Given the description of an element on the screen output the (x, y) to click on. 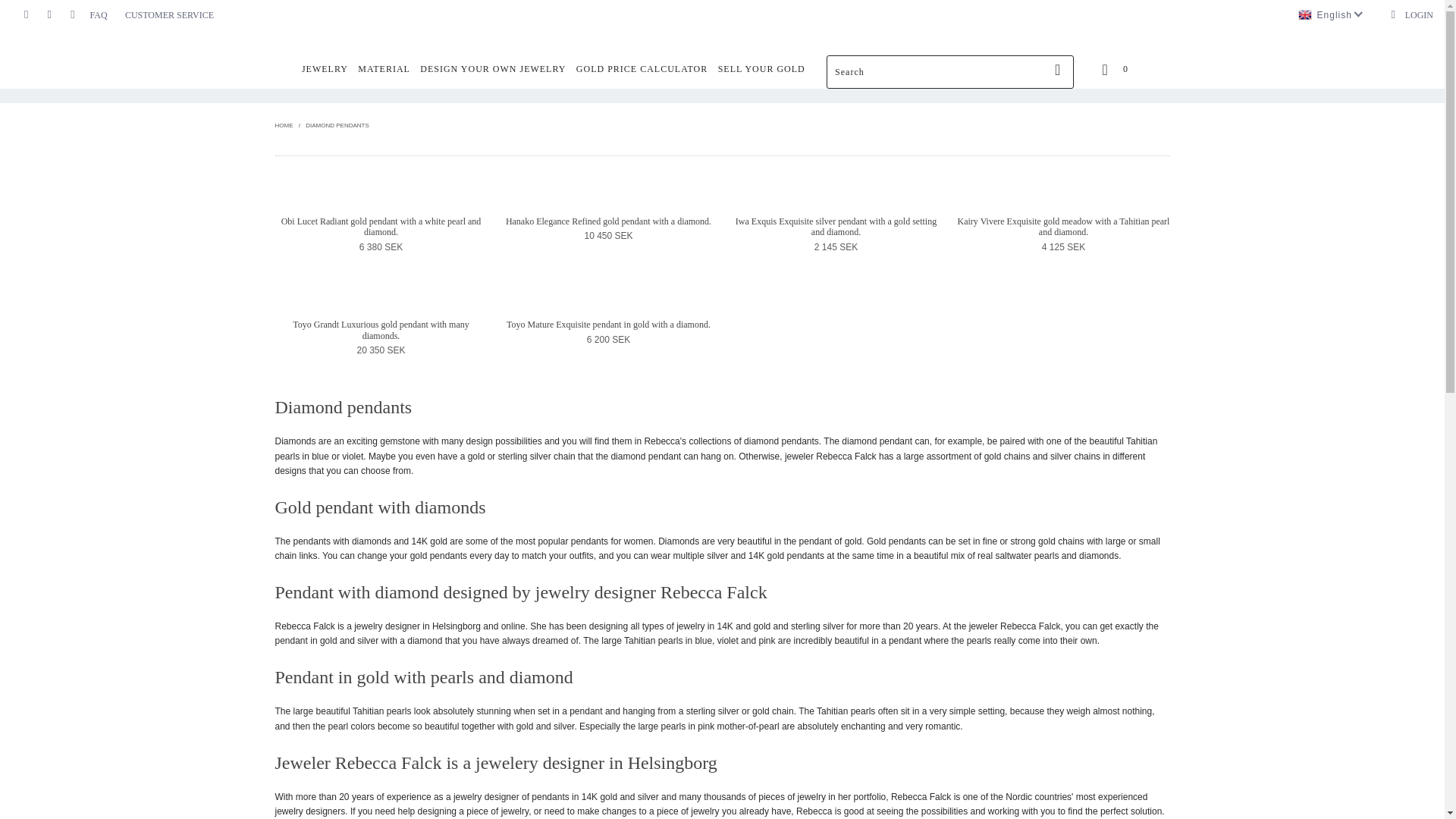
JEWELRY (324, 69)
MATERIAL (384, 69)
LOGIN (1411, 15)
Diamond pendants (337, 125)
DESIGN YOUR OWN JEWELRY (493, 69)
GOLD PRICE CALCULATOR (641, 69)
CUSTOMER SERVICE (169, 15)
My Account  (1411, 15)
0 (1112, 68)
SELL YOUR GOLD (761, 69)
